Given the description of an element on the screen output the (x, y) to click on. 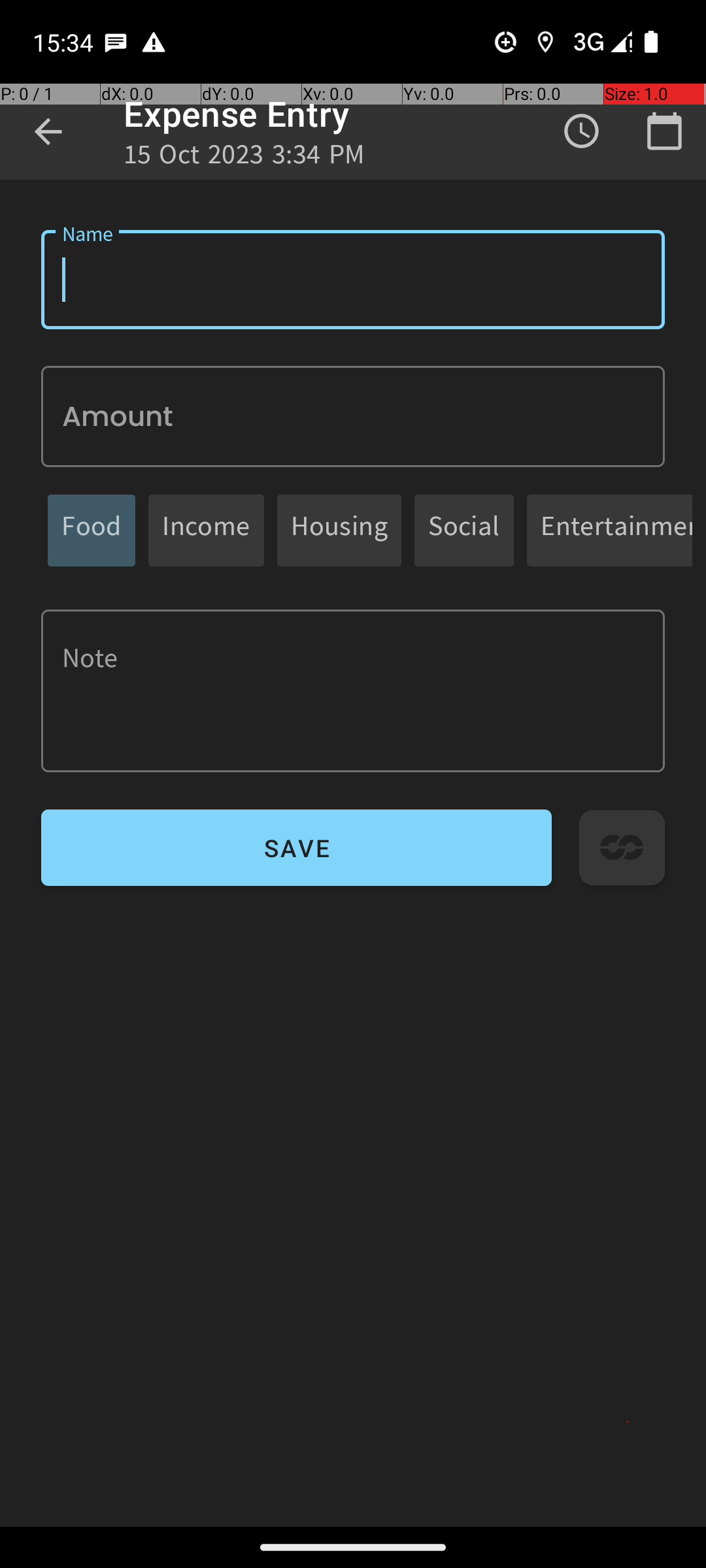
Expense Entry Element type: android.widget.TextView (236, 113)
15 Oct 2023 3:34 PM Element type: android.widget.TextView (244, 157)
Name Element type: android.widget.EditText (352, 279)
SAVE Element type: android.widget.Button (296, 847)
